Given the description of an element on the screen output the (x, y) to click on. 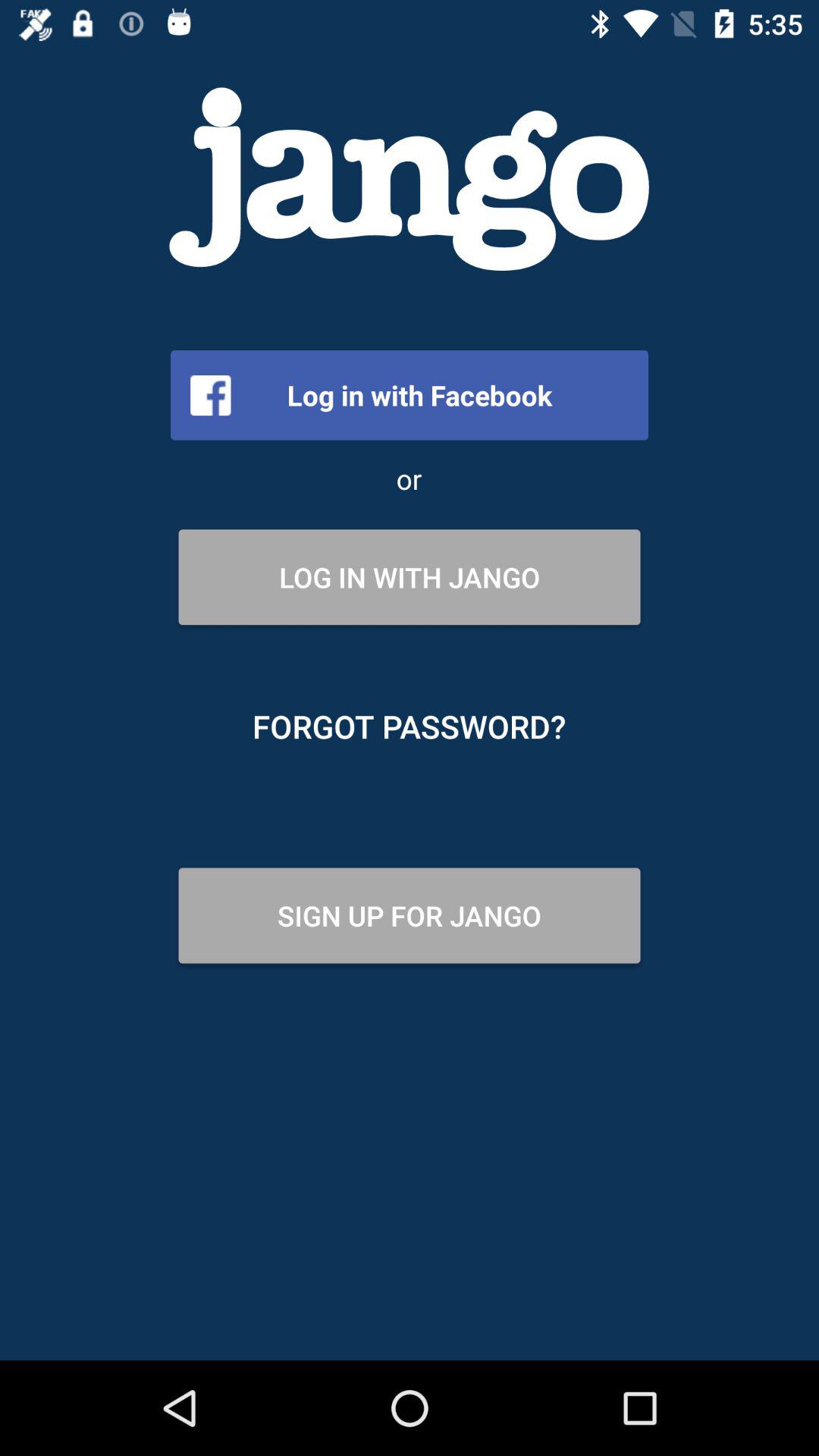
tap sign up for item (409, 915)
